Given the description of an element on the screen output the (x, y) to click on. 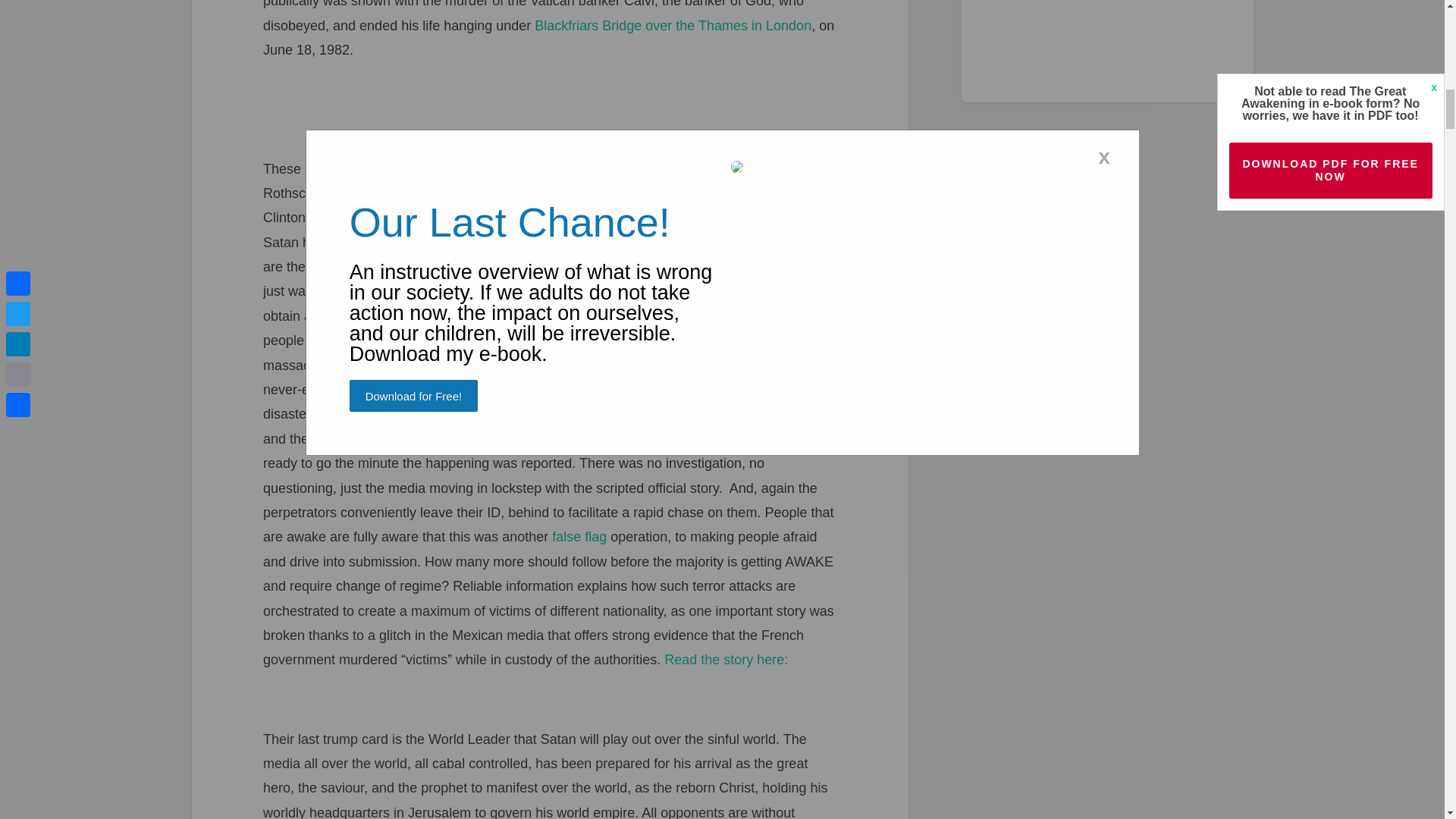
Read the story here: (725, 659)
Blackfriars Bridge over the Thames in London (672, 25)
false flag (579, 536)
